Given the description of an element on the screen output the (x, y) to click on. 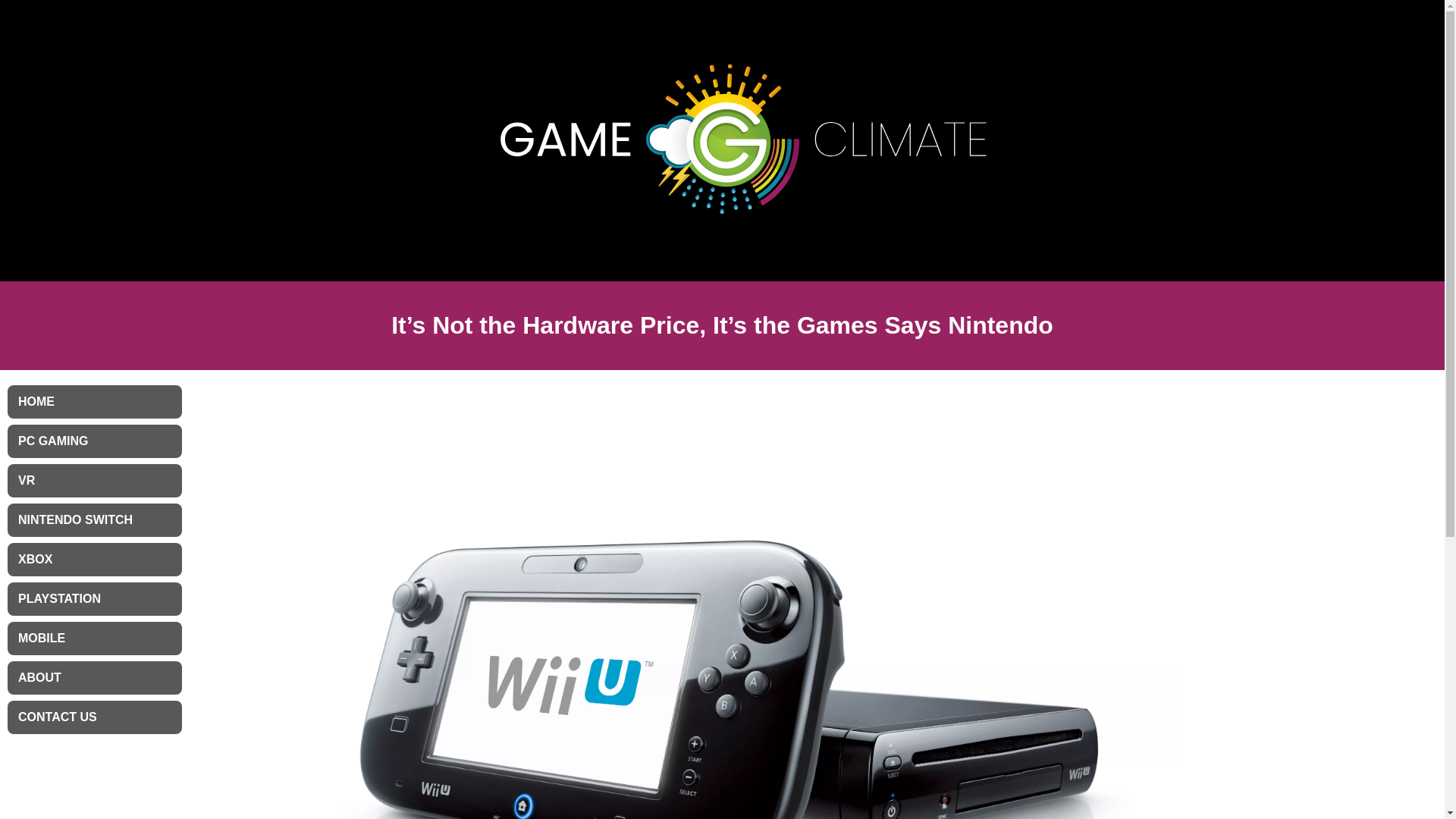
NINTENDO SWITCH (94, 520)
ABOUT (94, 677)
CONTACT US (94, 717)
MOBILE (94, 638)
HOME (94, 401)
PLAYSTATION (94, 598)
XBOX (94, 559)
PC GAMING (94, 441)
VR (94, 480)
